Given the description of an element on the screen output the (x, y) to click on. 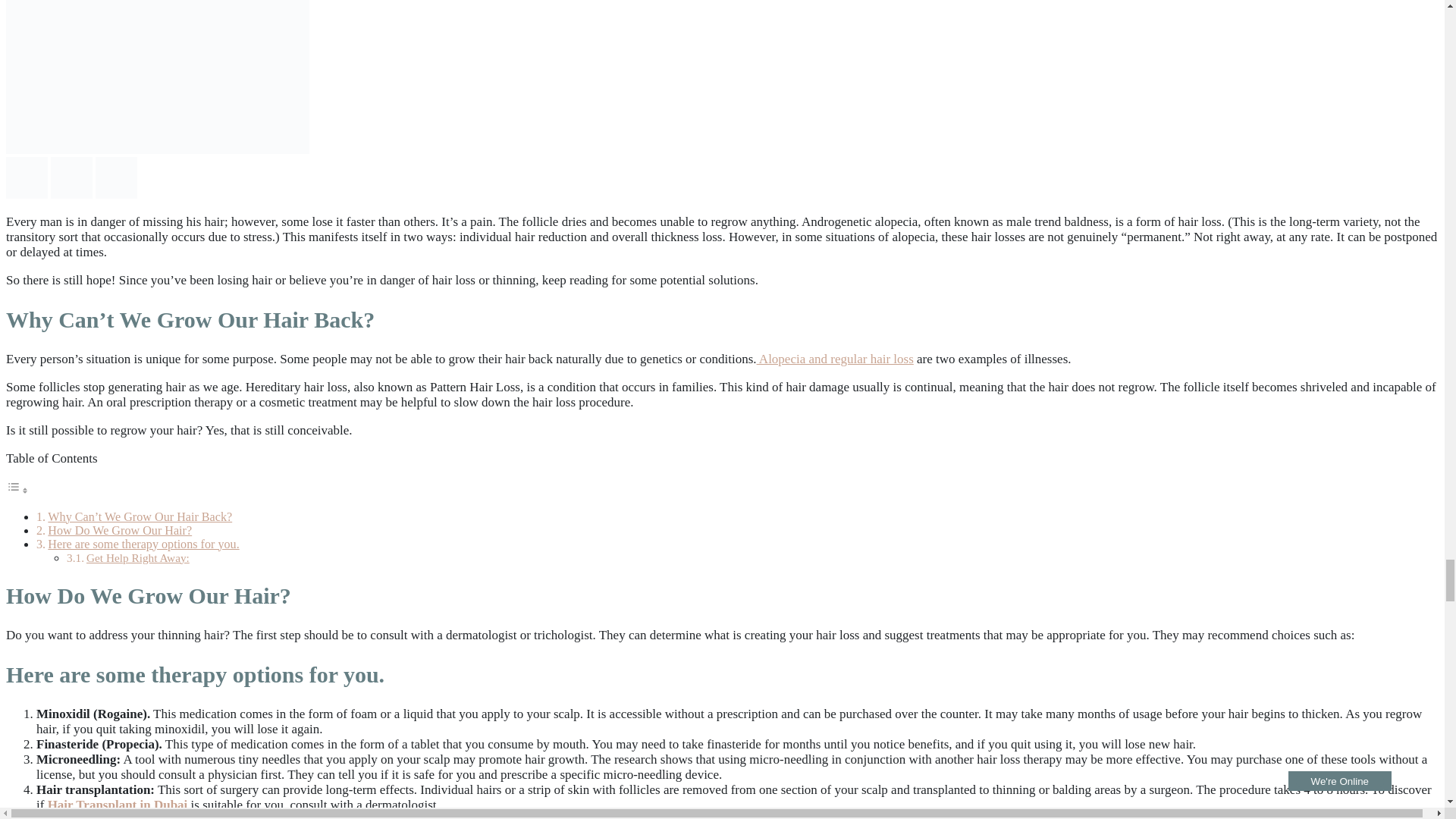
Get Help Right Away: (137, 557)
How Do We Grow Our Hair? (120, 530)
Here are some therapy options for you. (143, 543)
